Given the description of an element on the screen output the (x, y) to click on. 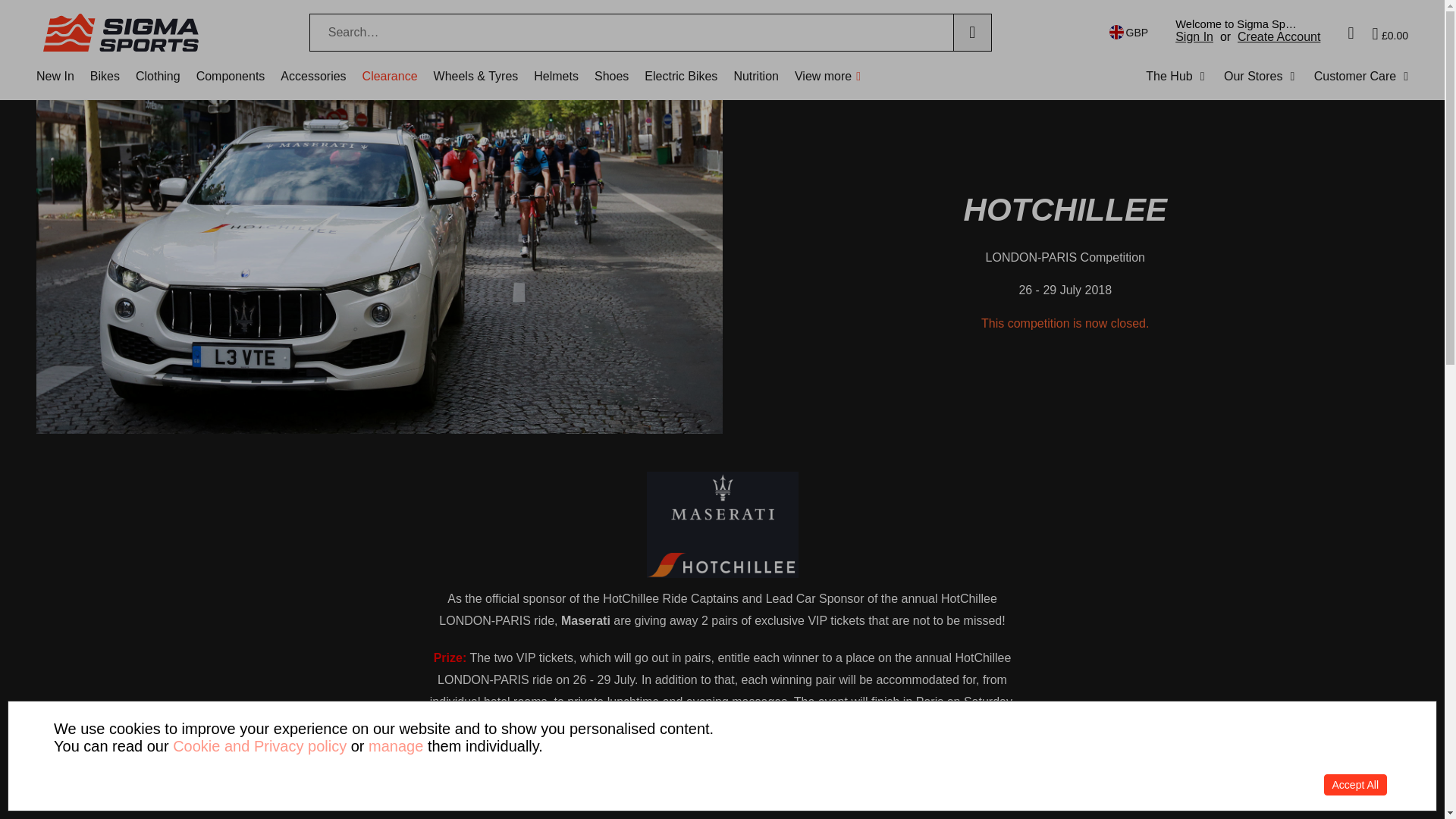
Search Sigma Sports (630, 32)
Search (972, 32)
